Given the description of an element on the screen output the (x, y) to click on. 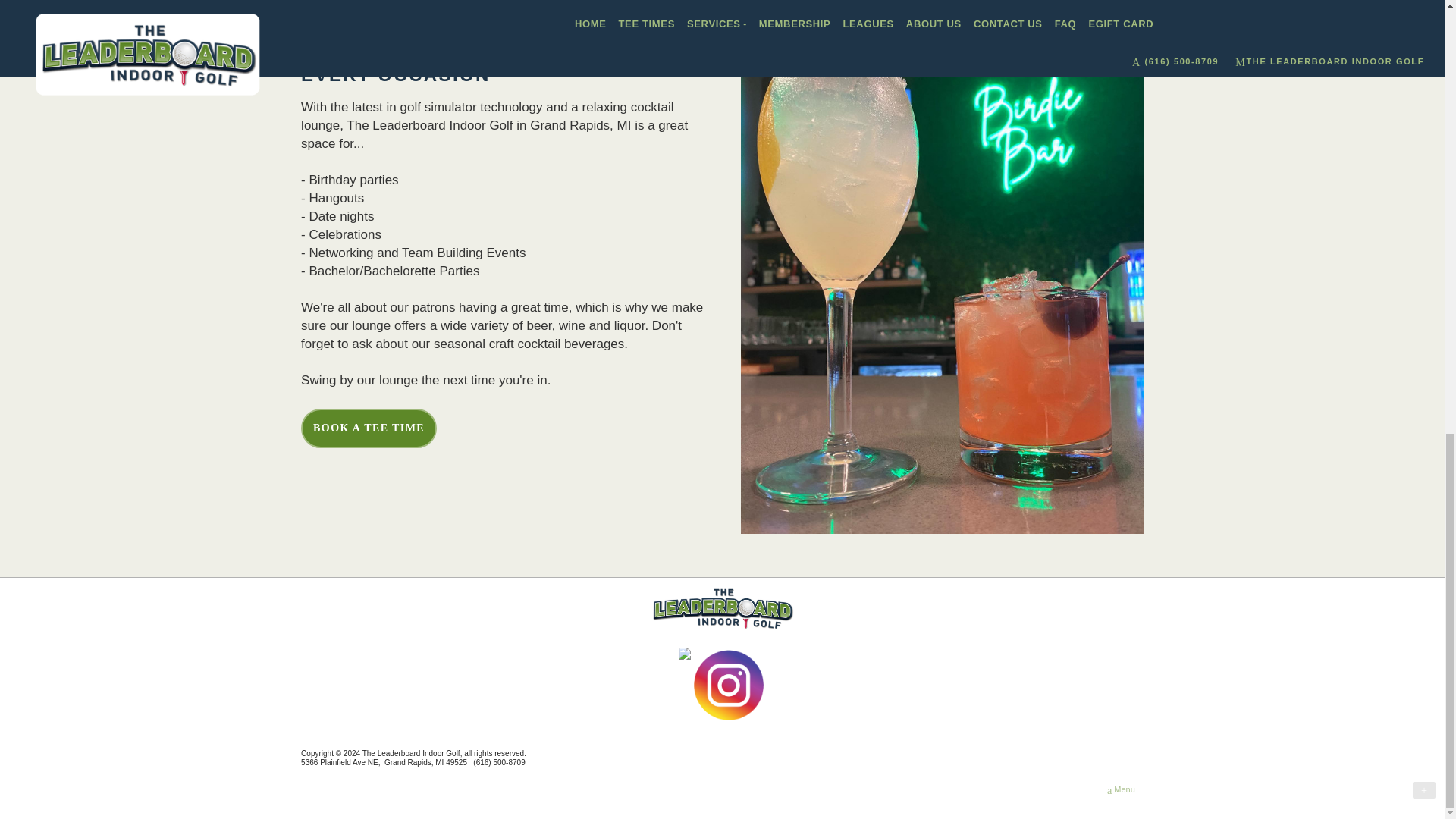
Open Menu (1120, 790)
The Leaderboard Indoor Golf (722, 608)
Menu (1120, 790)
